Given the description of an element on the screen output the (x, y) to click on. 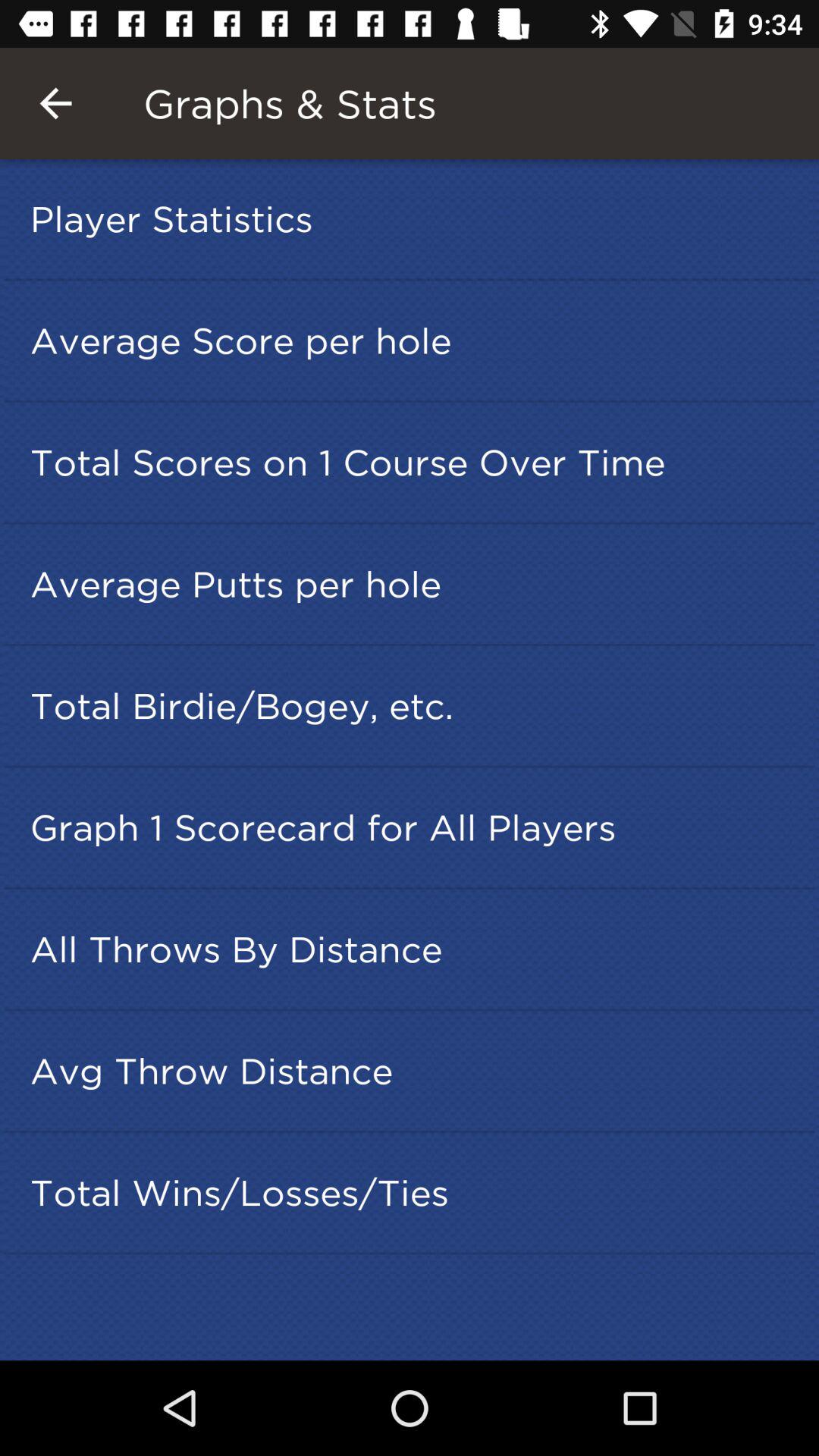
flip to the total birdie bogey (414, 705)
